Given the description of an element on the screen output the (x, y) to click on. 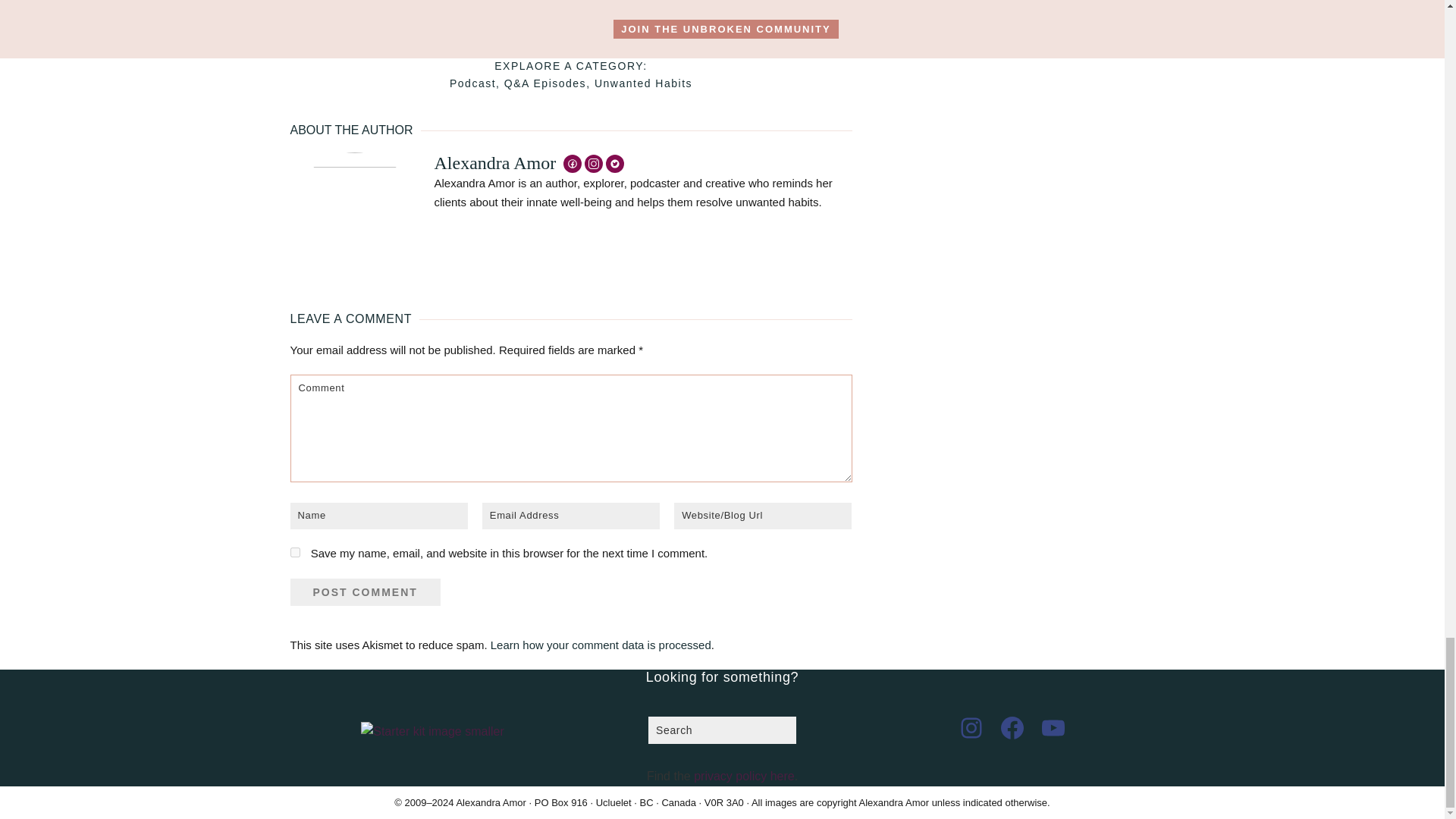
Post Comment (364, 592)
yes (294, 552)
